Given the description of an element on the screen output the (x, y) to click on. 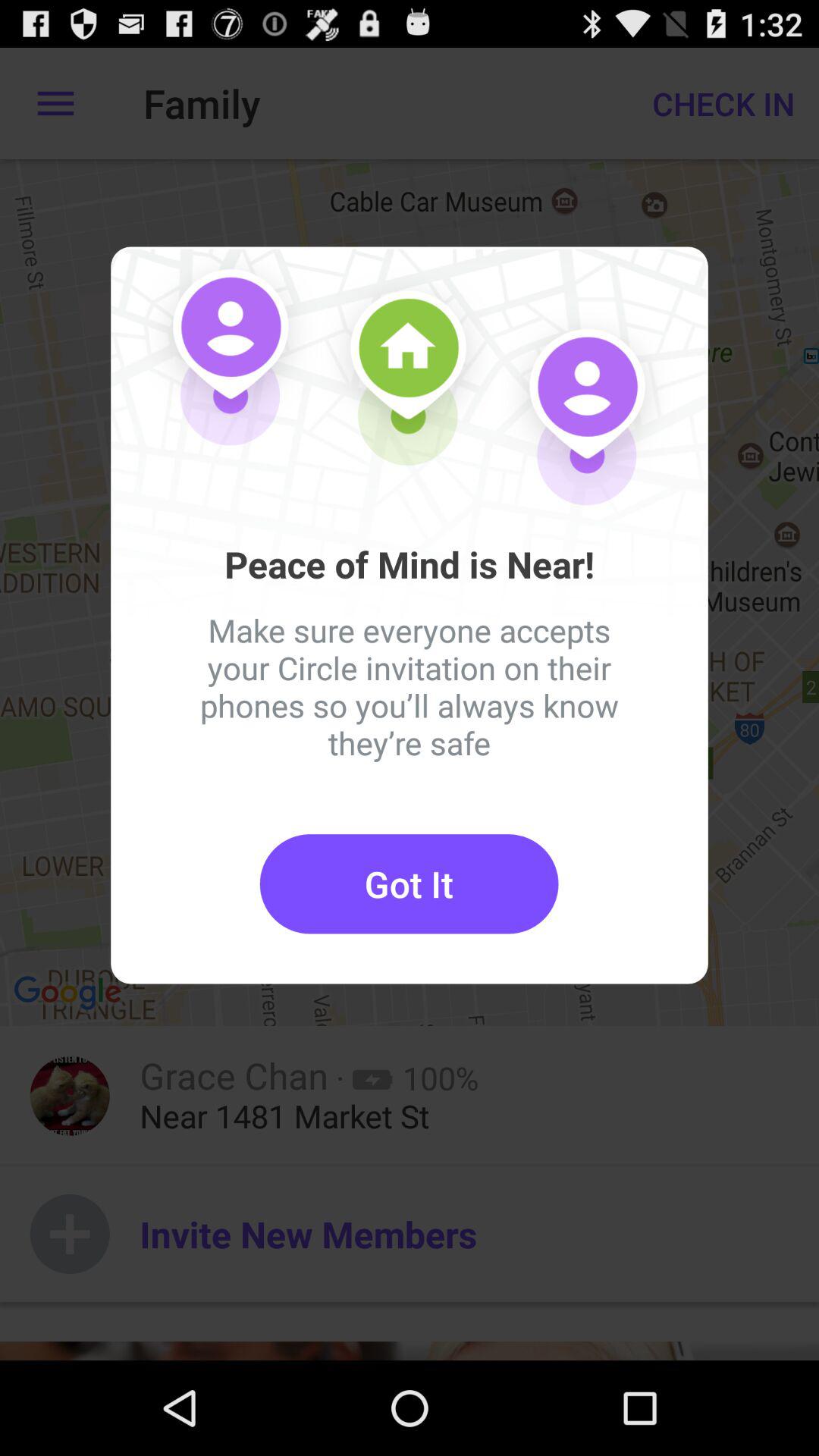
press the item below the make sure everyone item (408, 883)
